Given the description of an element on the screen output the (x, y) to click on. 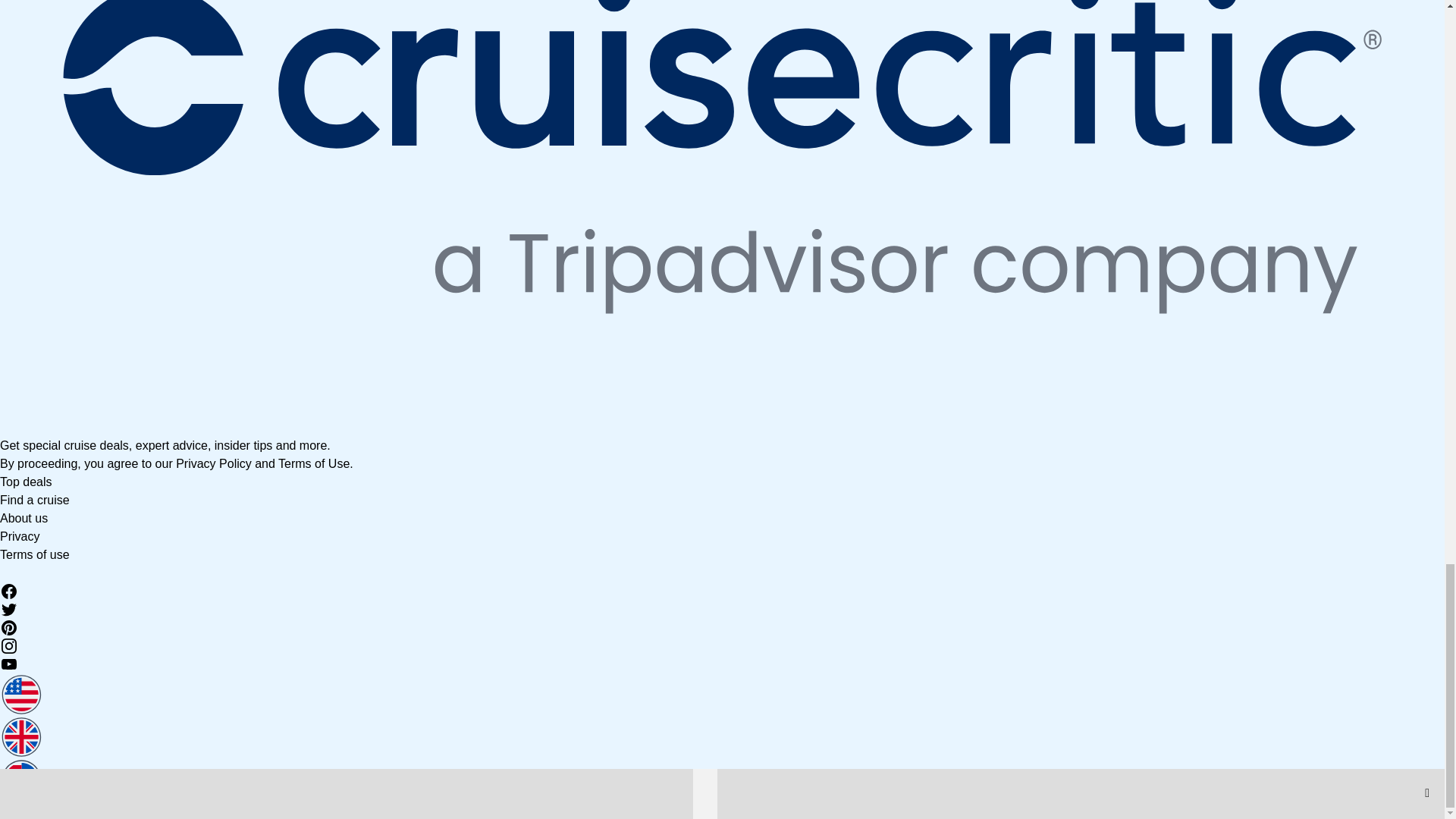
Privacy Policy (213, 463)
Find a cruise (34, 499)
Terms of Use (313, 463)
Top deals (26, 481)
